Given the description of an element on the screen output the (x, y) to click on. 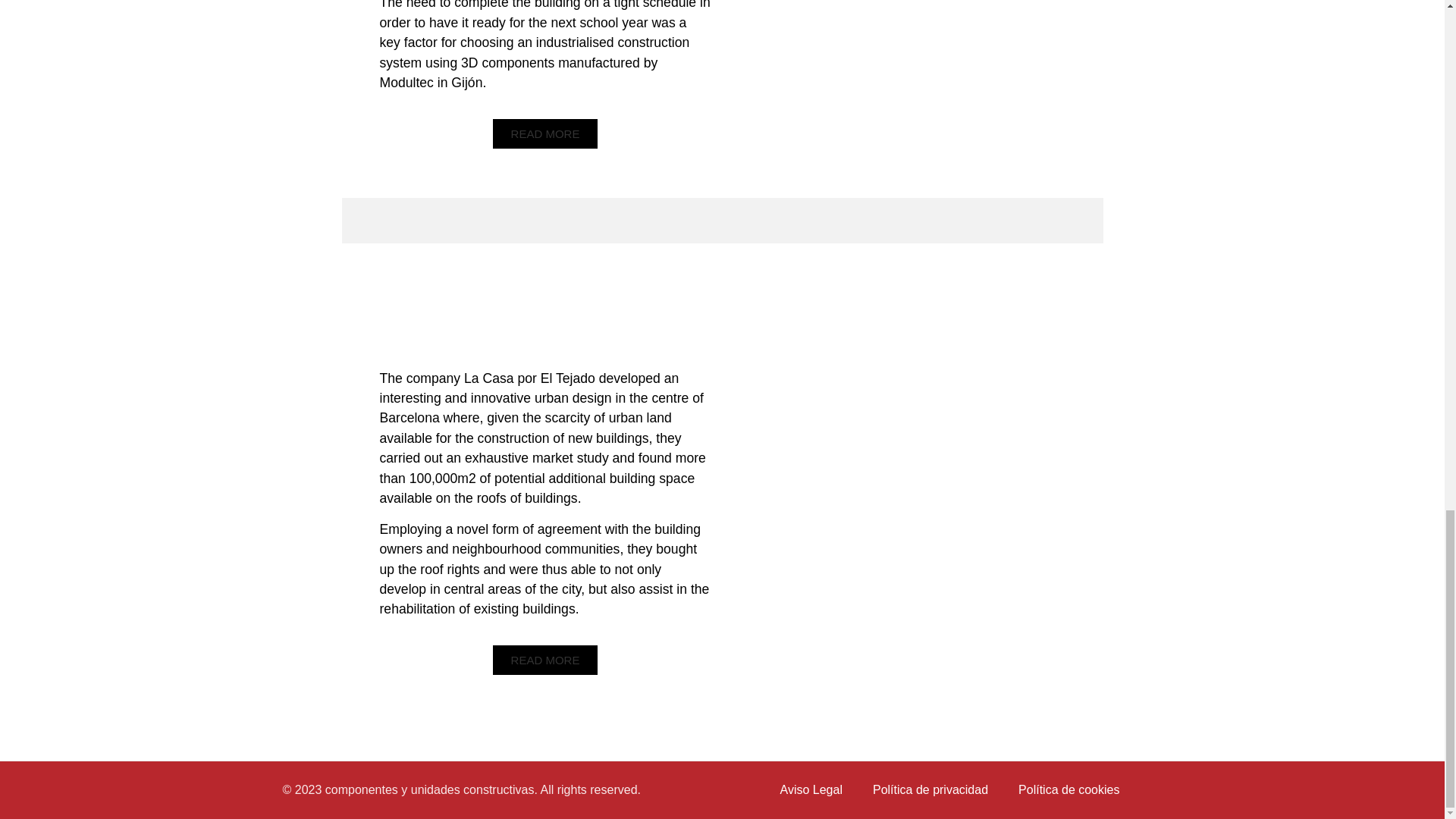
READ MORE (545, 133)
READ MORE (545, 659)
Aviso Legal (811, 790)
